Given the description of an element on the screen output the (x, y) to click on. 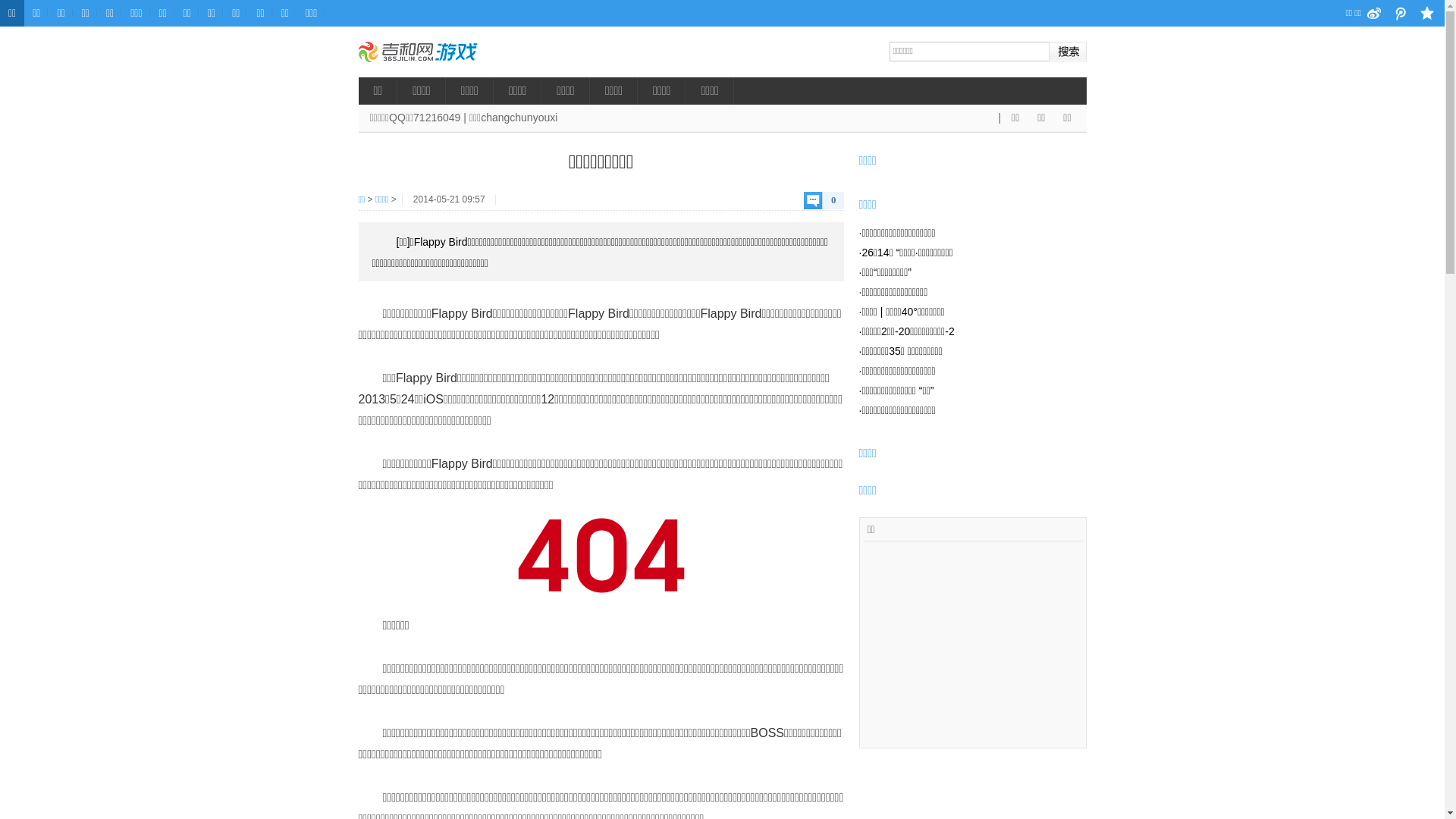
0 Element type: text (823, 199)
